Given the description of an element on the screen output the (x, y) to click on. 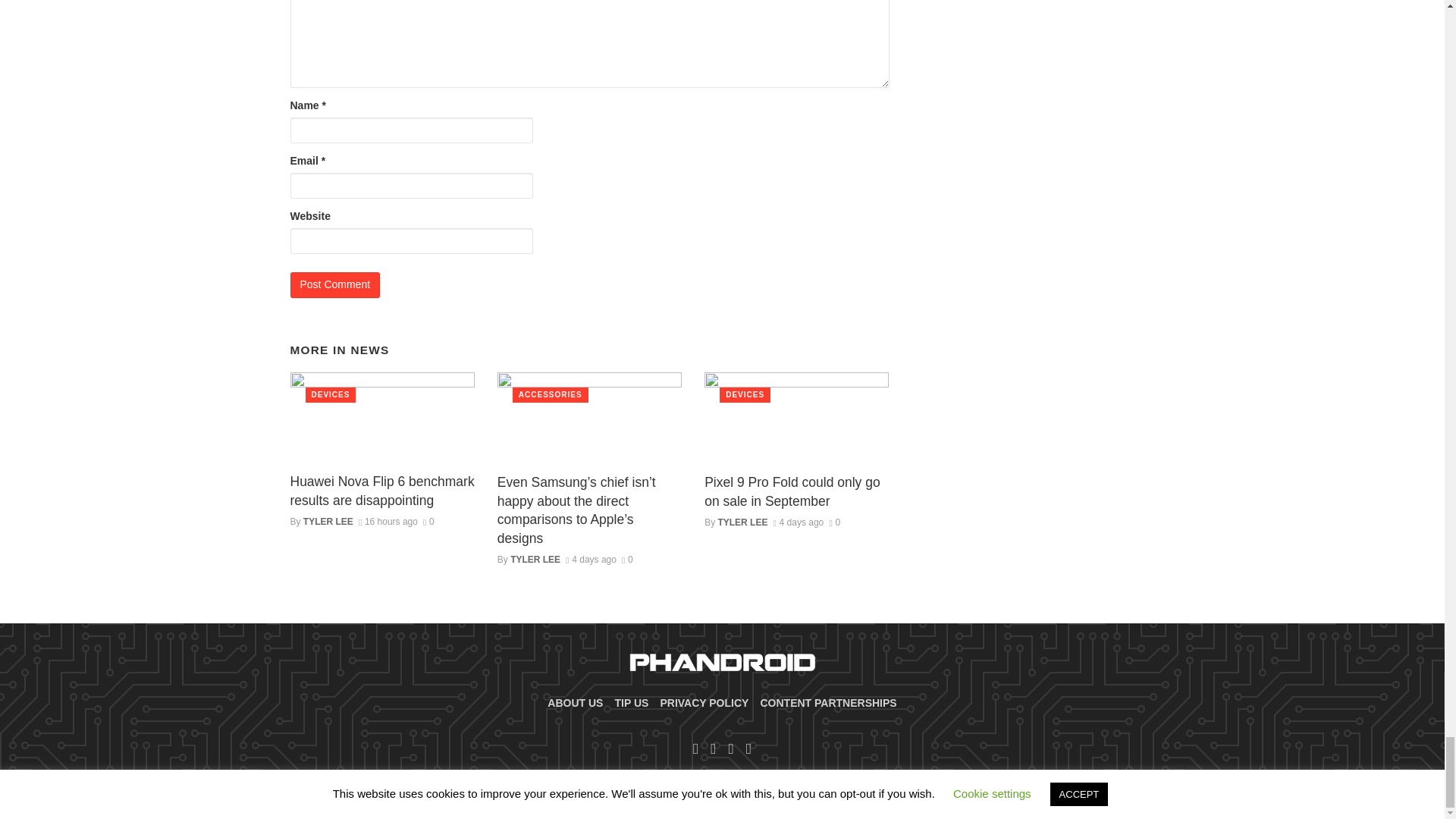
Post Comment (334, 284)
